Given the description of an element on the screen output the (x, y) to click on. 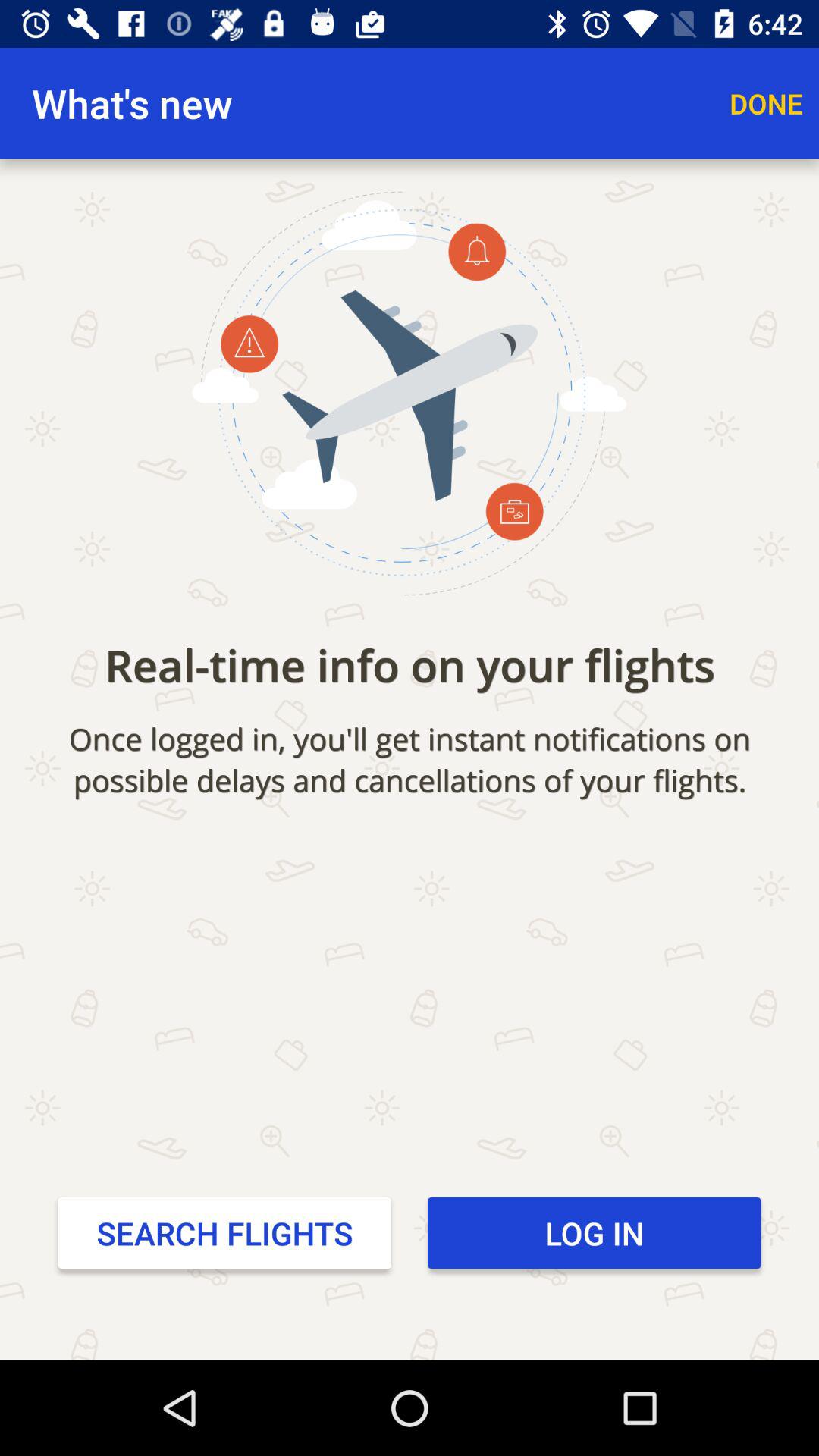
turn on item below the once logged in icon (593, 1232)
